Given the description of an element on the screen output the (x, y) to click on. 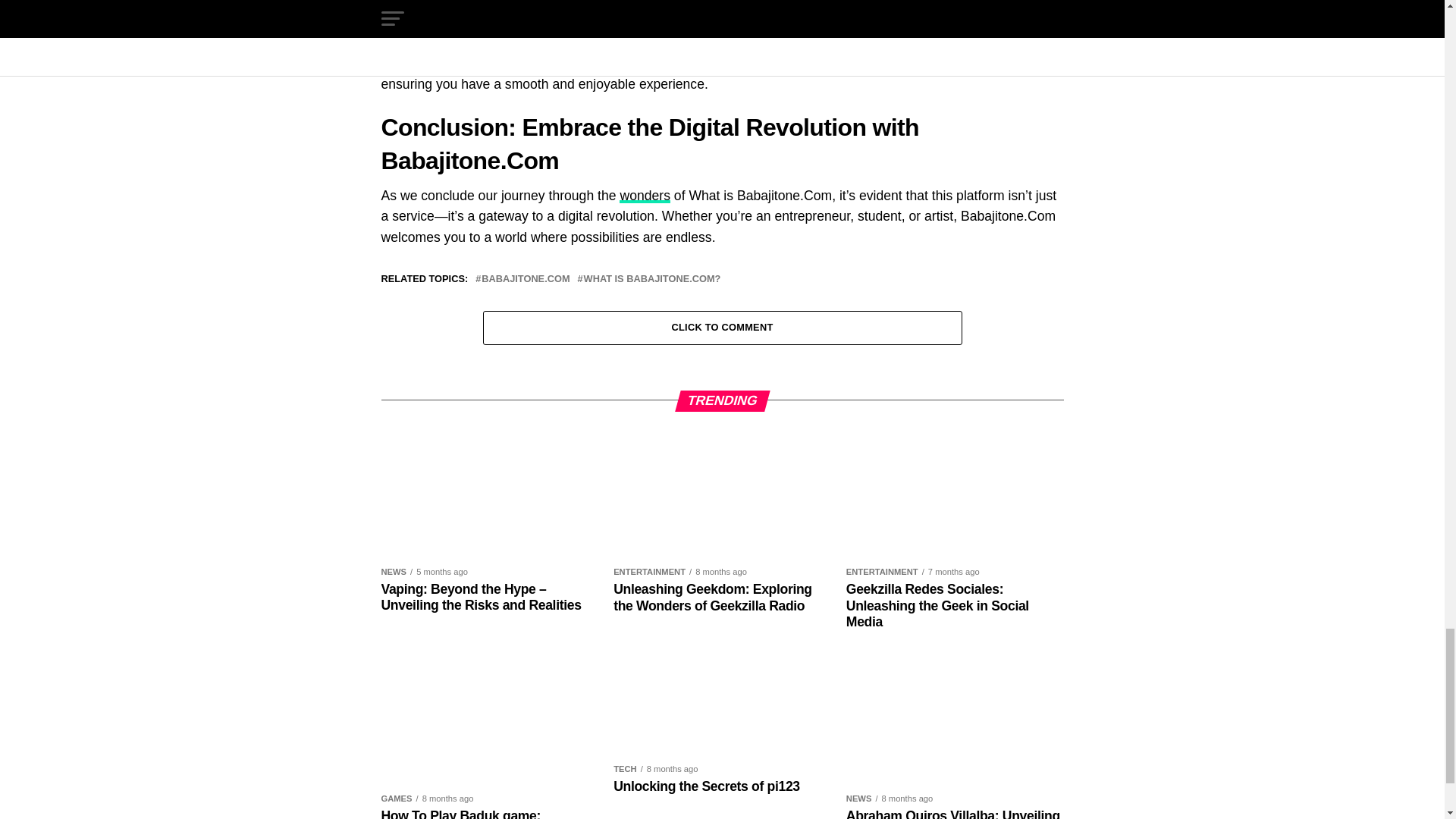
BABAJITONE.COM (525, 279)
wonders (644, 195)
WHAT IS BABAJITONE.COM? (651, 279)
